Given the description of an element on the screen output the (x, y) to click on. 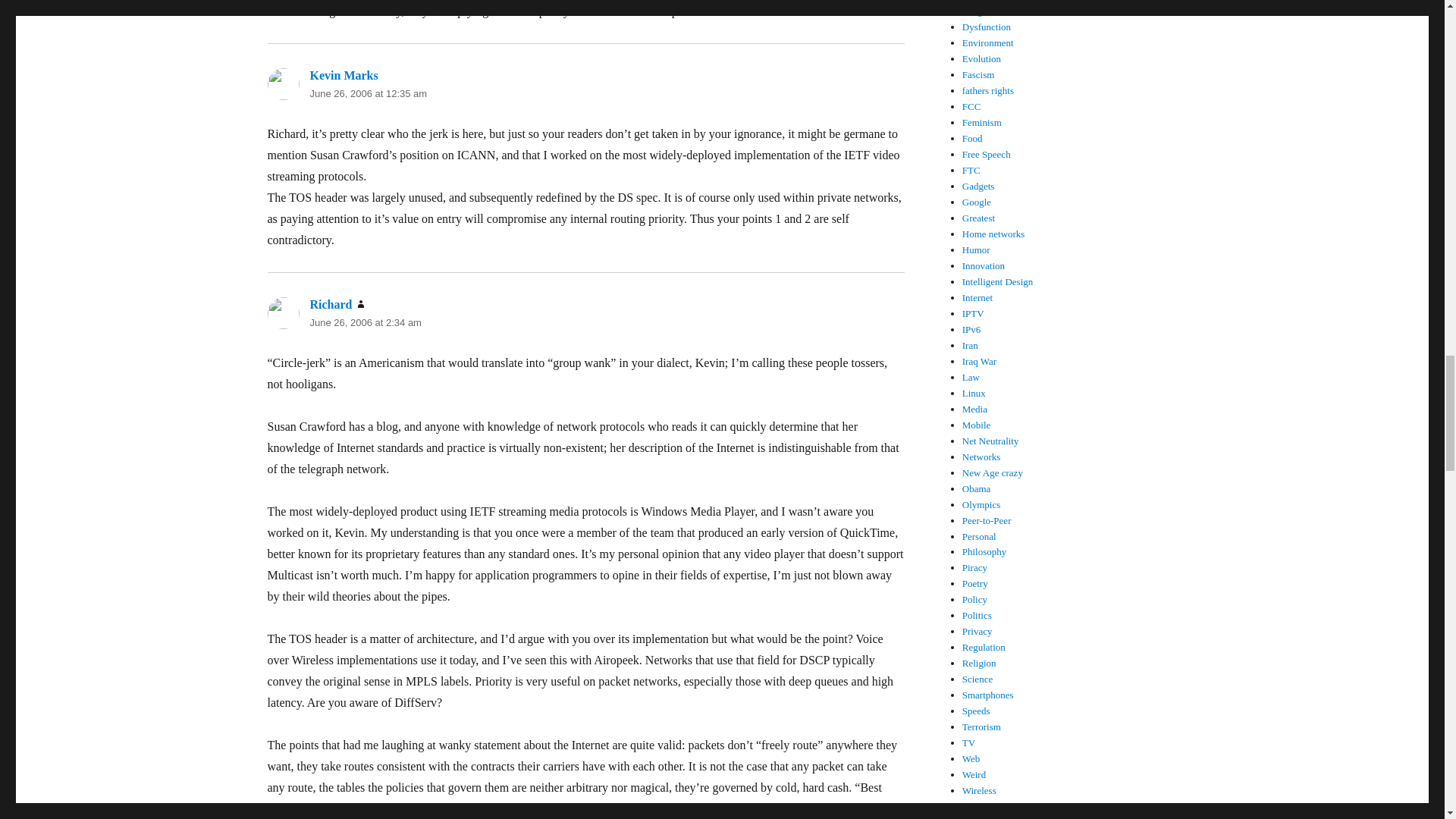
Kevin Marks (342, 74)
Richard (330, 304)
June 26, 2006 at 12:35 am (367, 93)
June 26, 2006 at 2:34 am (364, 322)
